Given the description of an element on the screen output the (x, y) to click on. 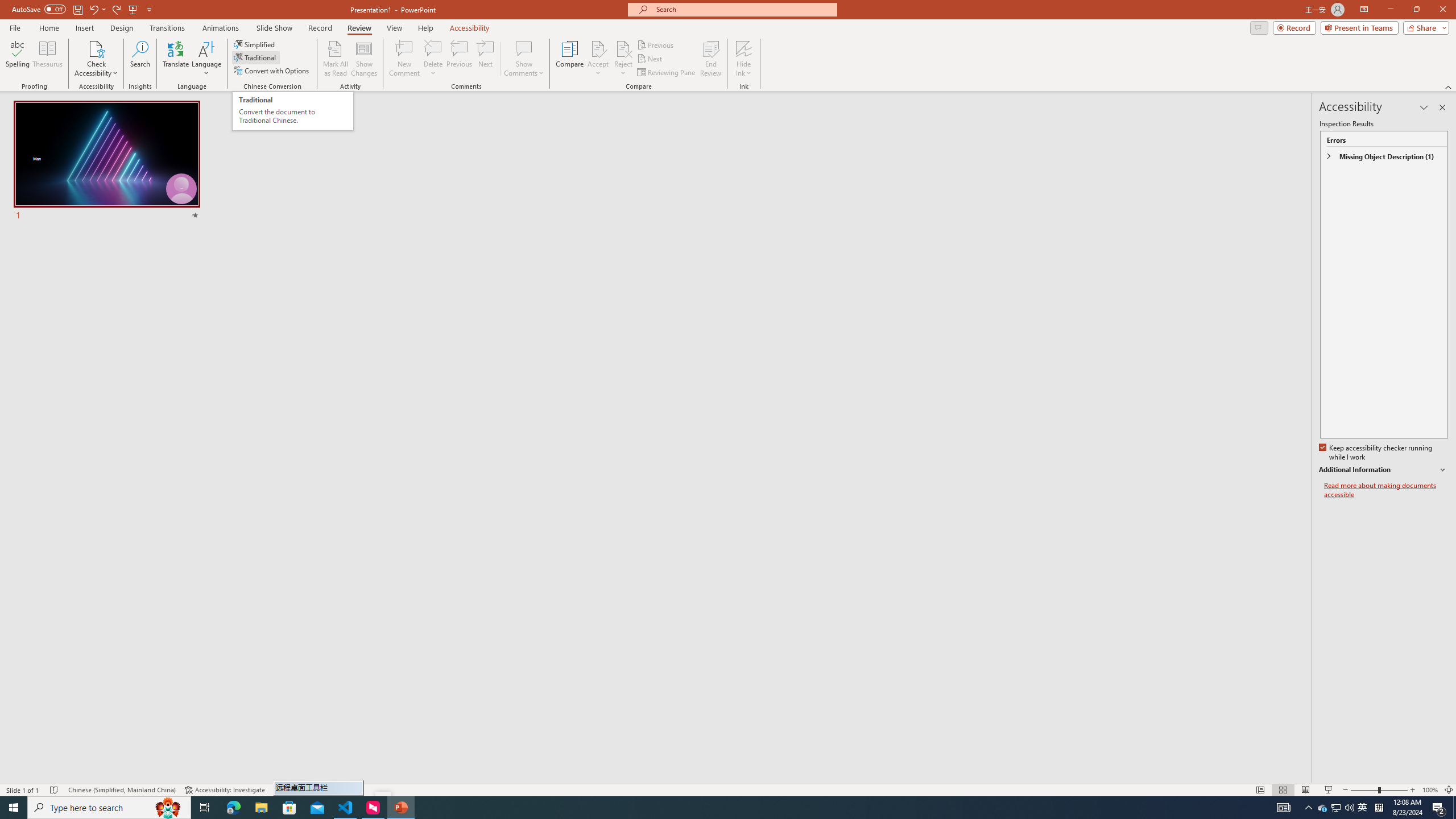
Show Comments (524, 58)
Keep accessibility checker running while I work (1376, 452)
Next (649, 58)
Show Comments (524, 48)
